Given the description of an element on the screen output the (x, y) to click on. 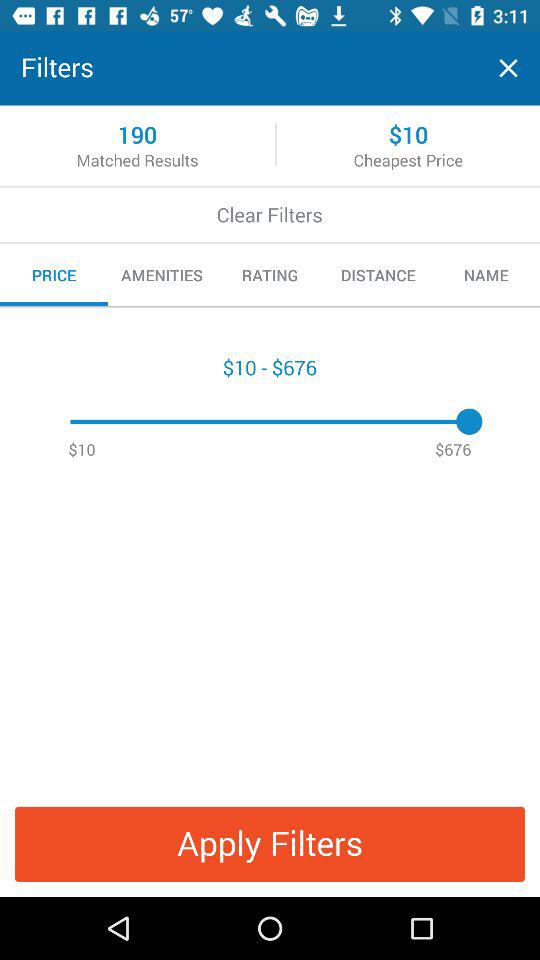
exit (508, 67)
